Given the description of an element on the screen output the (x, y) to click on. 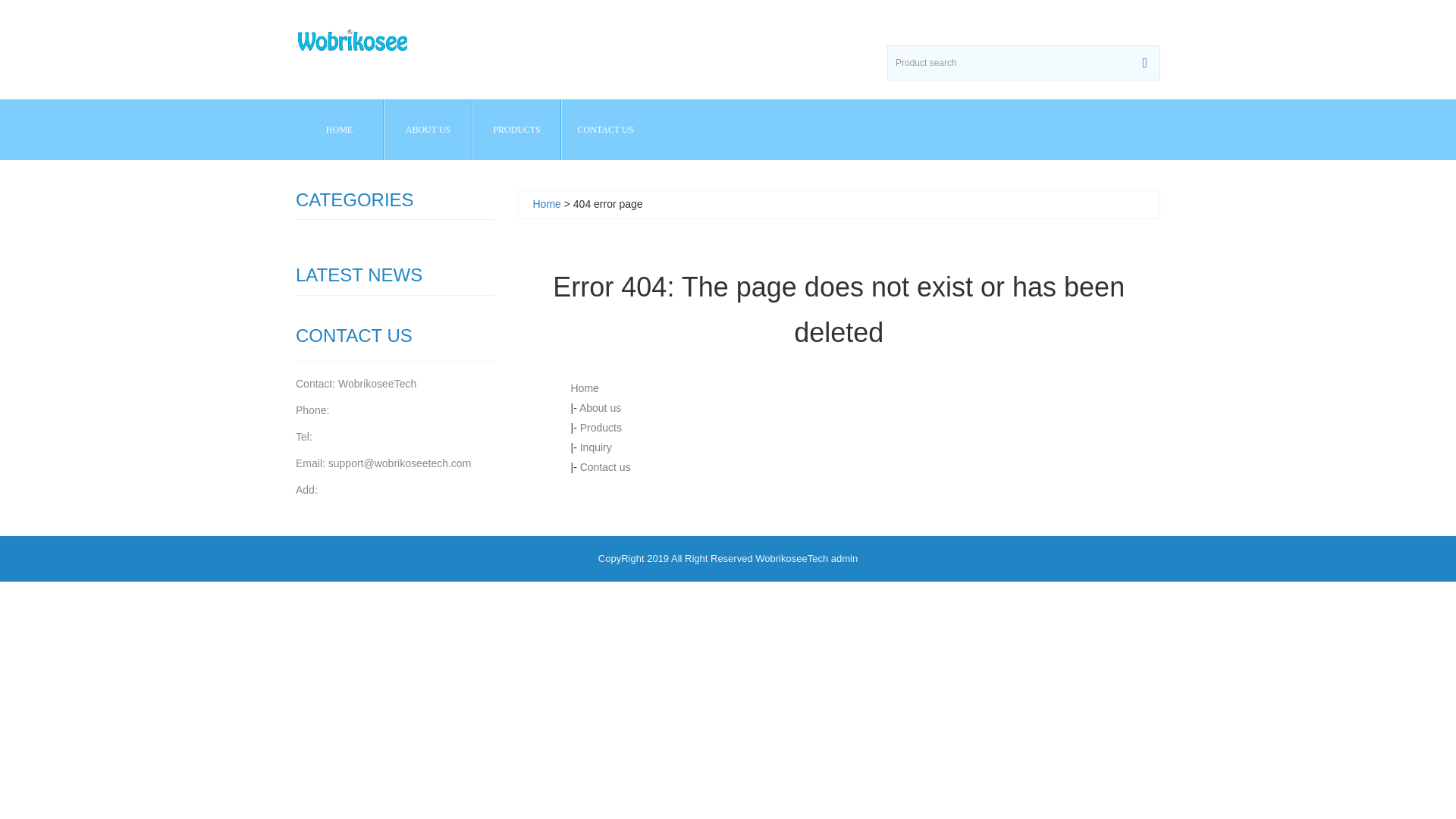
About us (600, 408)
CONTACT US (605, 129)
Contact us (604, 467)
Inquiry (595, 447)
Home (546, 203)
PRODUCTS (516, 129)
Home (584, 387)
Products (600, 427)
HOME (338, 129)
ABOUT US (427, 129)
